Given the description of an element on the screen output the (x, y) to click on. 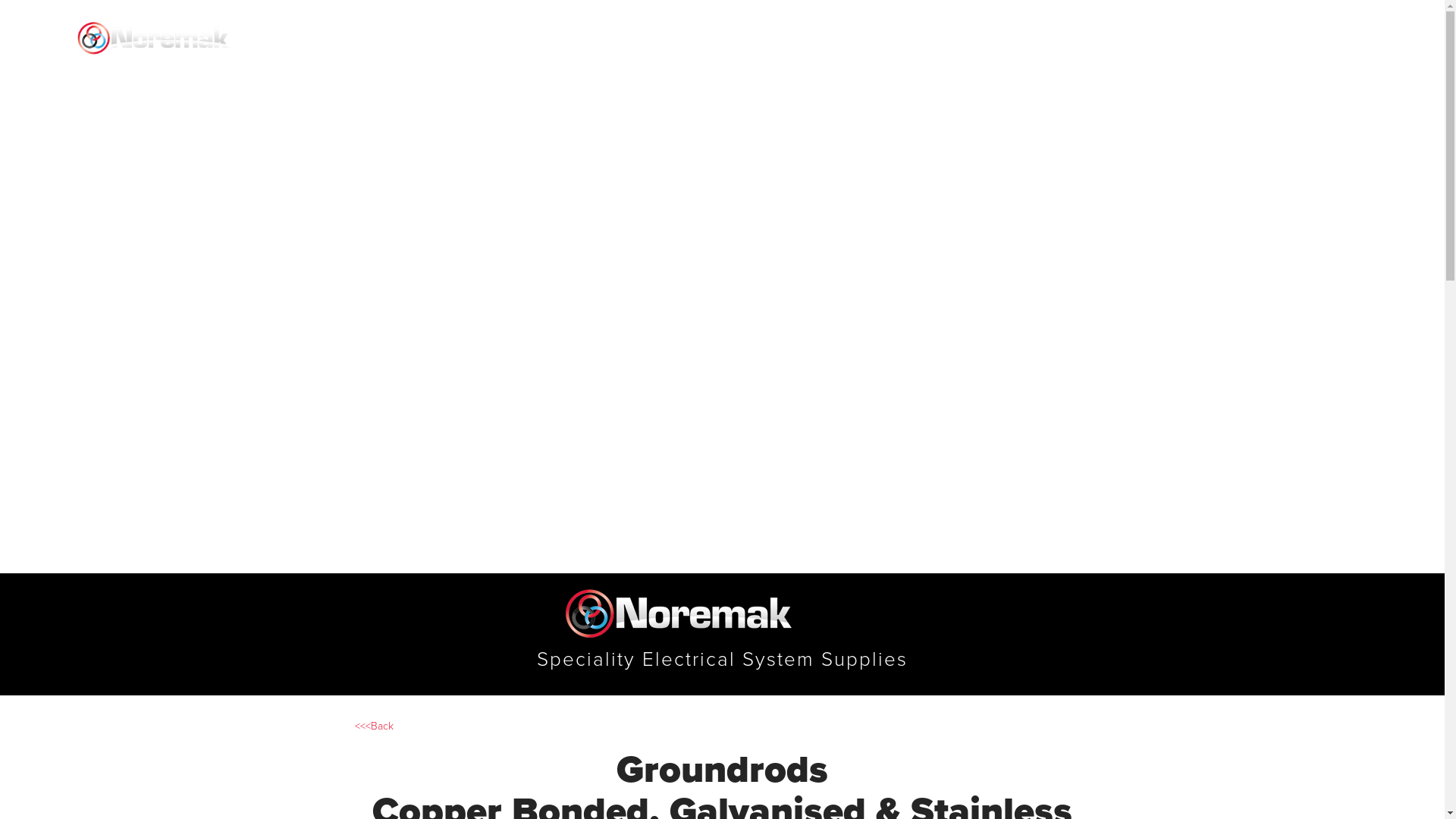
MENU Element type: text (1385, 34)
<<<Back Element type: text (373, 725)
